Given the description of an element on the screen output the (x, y) to click on. 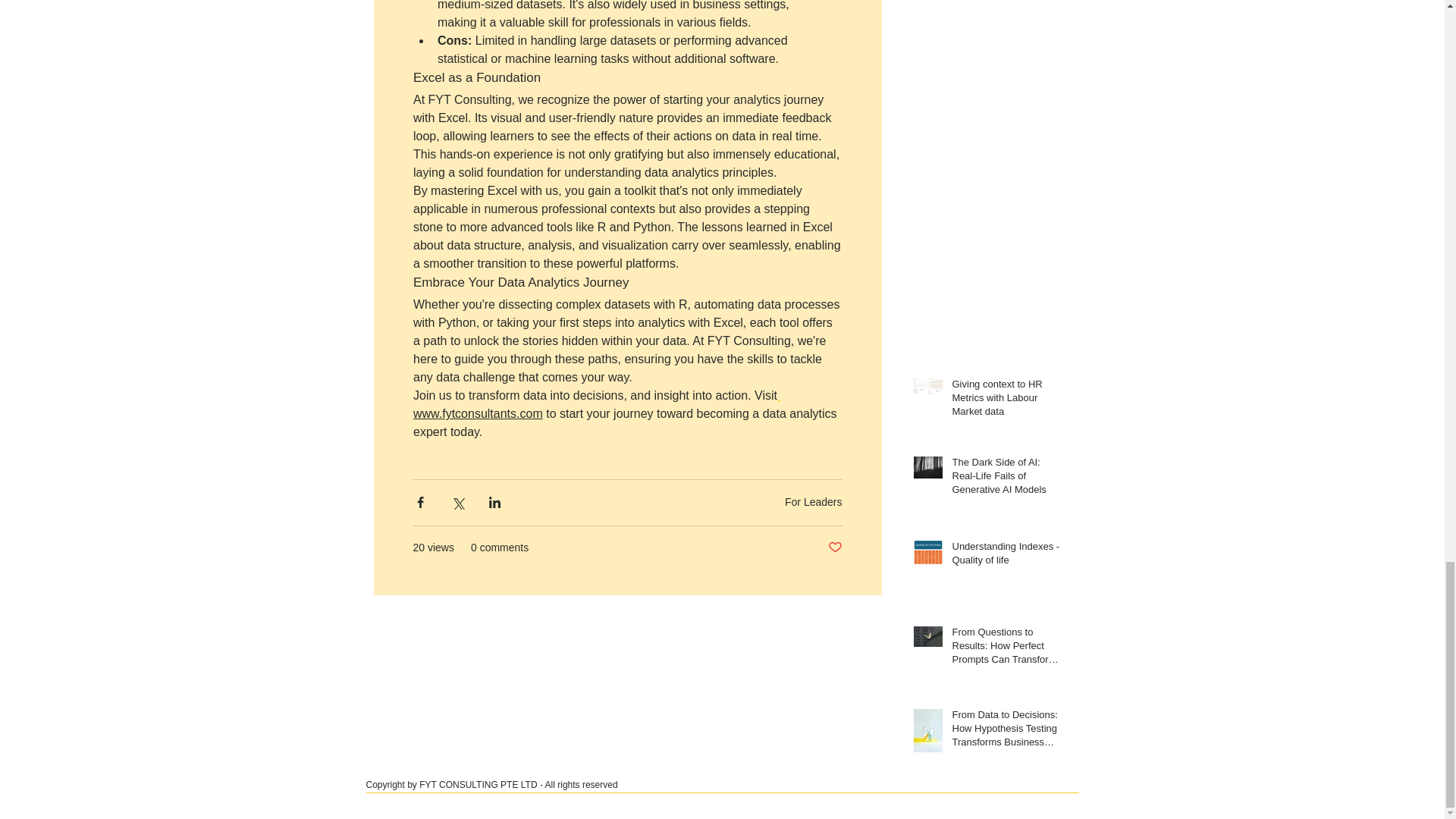
Giving context to HR Metrics with Labour Market data (1006, 401)
Post not marked as liked (835, 547)
Understanding Indexes - Quality of life (1006, 556)
The Dark Side of AI: Real-Life Fails of Generative AI Models (1006, 479)
www.fytconsultants.com (476, 414)
For Leaders (812, 501)
